Given the description of an element on the screen output the (x, y) to click on. 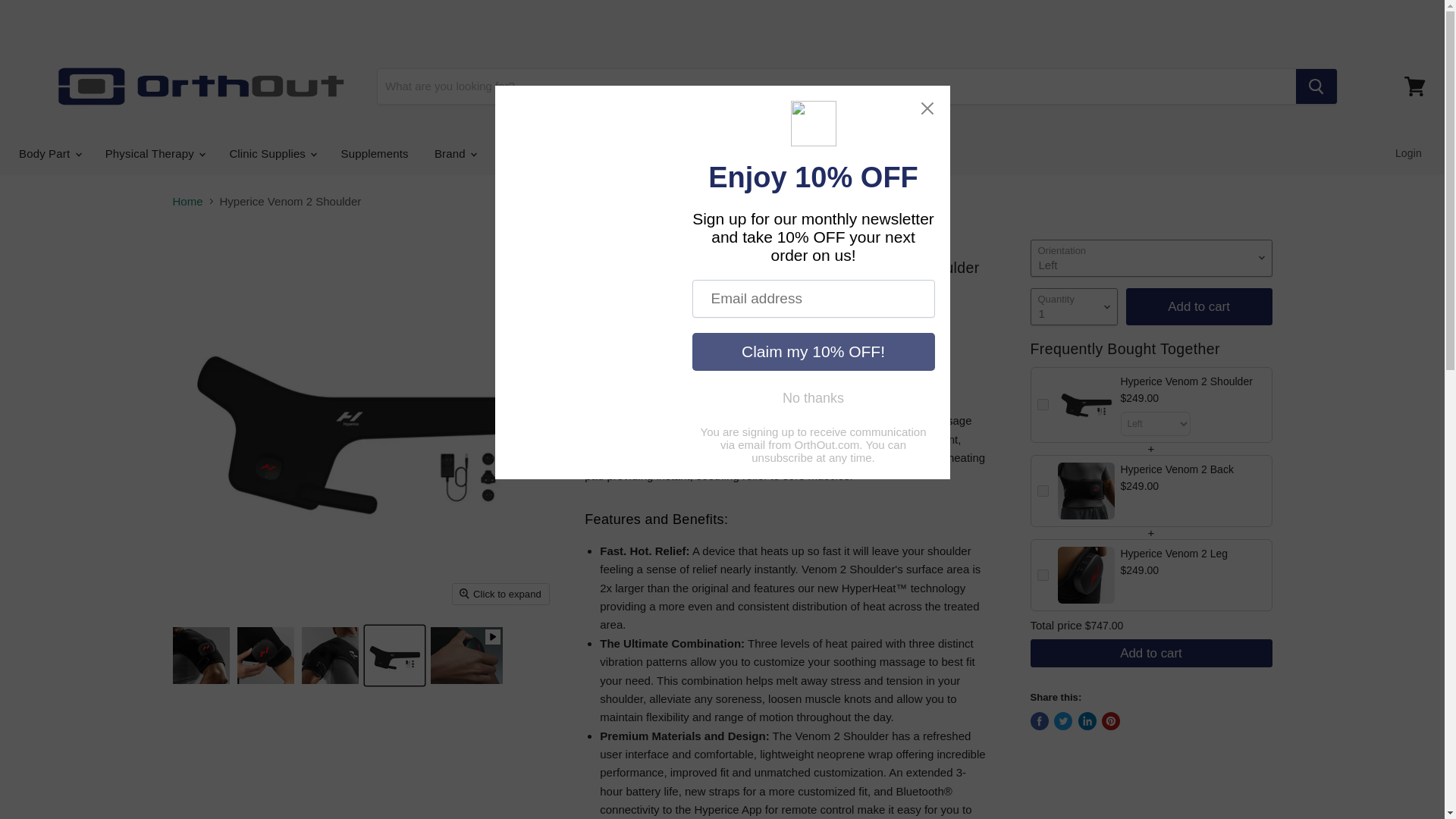
on (1042, 404)
View cart (1414, 86)
Hyperice (622, 332)
Body Part (48, 153)
on (1042, 574)
Supplements (375, 153)
Clinic Supplies (271, 153)
Physical Therapy (154, 153)
on (1042, 490)
Brand (454, 153)
